Given the description of an element on the screen output the (x, y) to click on. 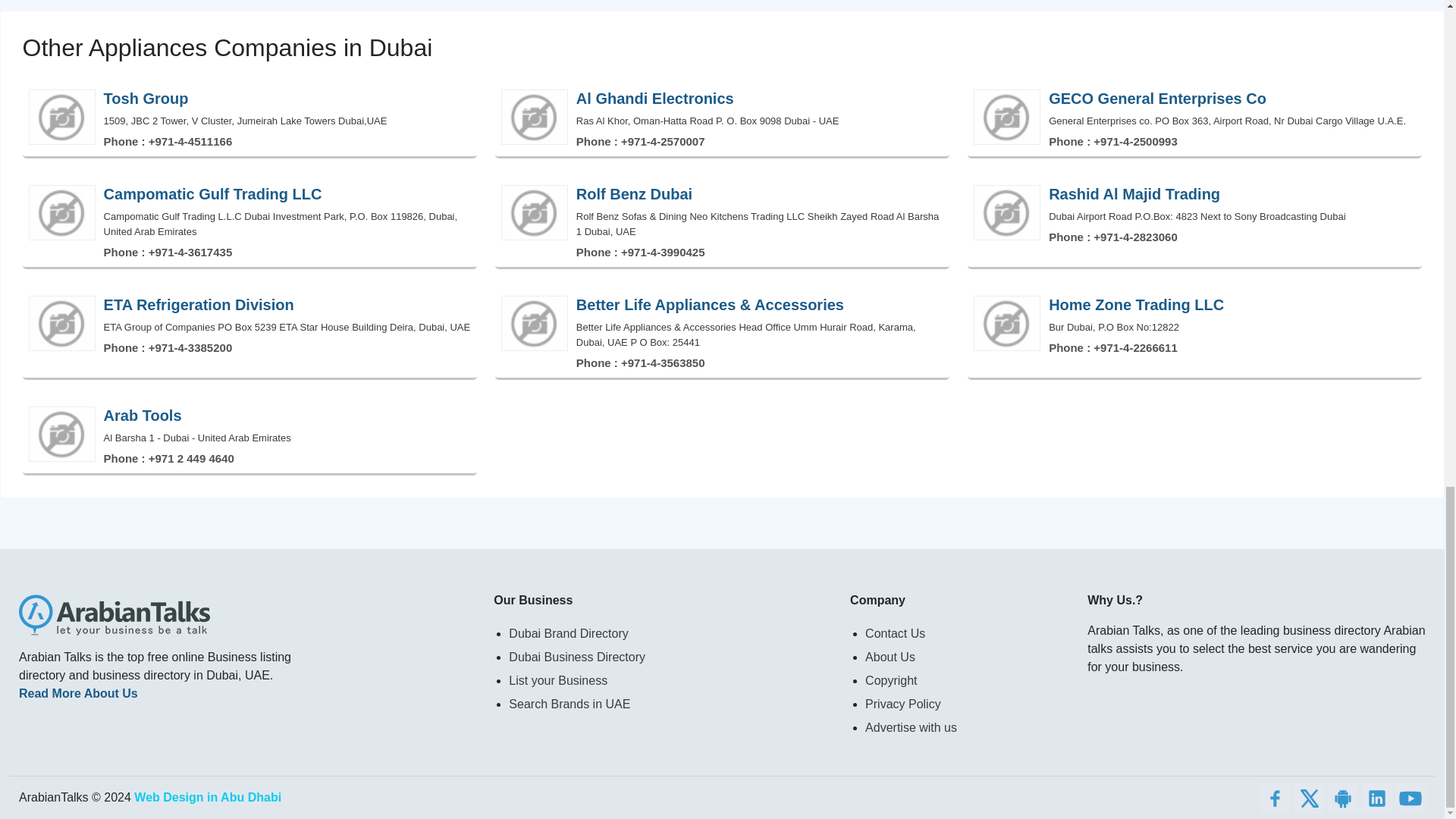
Search Brands in UAE (669, 703)
About Us (966, 657)
Copyright (966, 680)
Dubai Brand Directory (669, 633)
Read More About Us (78, 693)
Web Design in Abu Dhabi (207, 797)
List your Business (669, 680)
Dubai Business Directory (669, 657)
Privacy Policy (966, 703)
Advertise with us (966, 727)
Contact Us (966, 633)
